Given the description of an element on the screen output the (x, y) to click on. 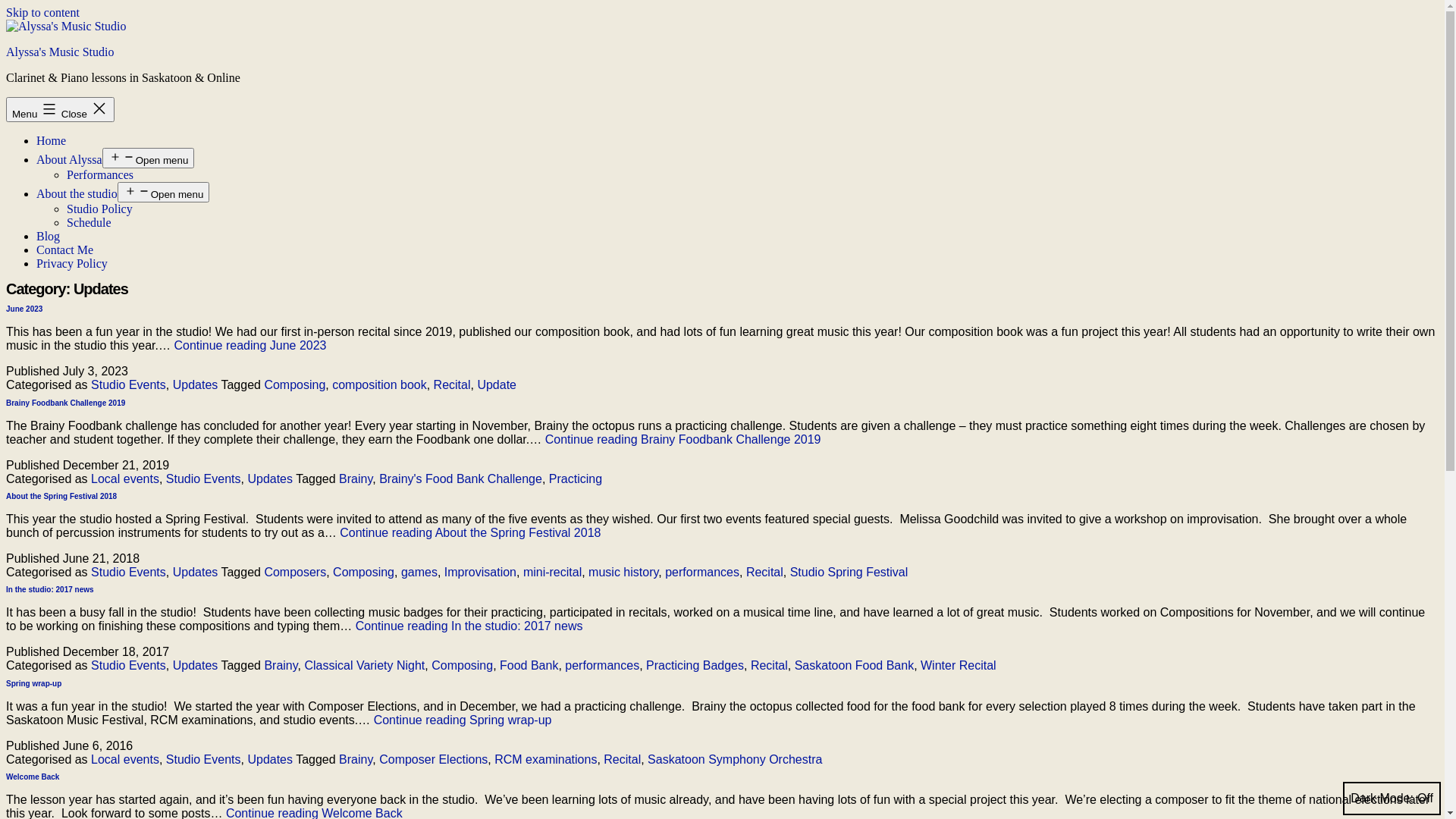
games Element type: text (419, 571)
Update Element type: text (496, 384)
Recital Element type: text (764, 571)
Continue reading Spring wrap-up Element type: text (462, 719)
Updates Element type: text (195, 664)
Studio Policy Element type: text (99, 208)
Composing Element type: text (363, 571)
Composing Element type: text (294, 384)
Brainy Element type: text (280, 664)
Practicing Element type: text (575, 478)
Recital Element type: text (621, 759)
In the studio: 2017 news Element type: text (50, 589)
Winter Recital Element type: text (958, 664)
Local events Element type: text (125, 478)
Brainy Element type: text (355, 478)
Composer Elections Element type: text (433, 759)
Open menu Element type: text (163, 192)
Contact Me Element type: text (64, 249)
Privacy Policy Element type: text (71, 263)
Menu Close Element type: text (60, 109)
Saskatoon Symphony Orchestra Element type: text (734, 759)
Continue reading June 2023 Element type: text (249, 344)
Brainy's Food Bank Challenge Element type: text (460, 478)
Classical Variety Night Element type: text (364, 664)
performances Element type: text (601, 664)
Updates Element type: text (195, 571)
About Alyssa Element type: text (69, 159)
Blog Element type: text (47, 235)
Brainy Foodbank Challenge 2019 Element type: text (65, 402)
Composing Element type: text (461, 664)
Dark Mode: Element type: text (1391, 798)
Recital Element type: text (451, 384)
Composers Element type: text (294, 571)
Studio Events Element type: text (128, 664)
Local events Element type: text (125, 759)
About the studio Element type: text (76, 193)
Continue reading In the studio: 2017 news Element type: text (469, 625)
Spring wrap-up Element type: text (33, 683)
Improvisation Element type: text (480, 571)
Practicing Badges Element type: text (694, 664)
Open menu Element type: text (148, 157)
Saskatoon Food Bank Element type: text (853, 664)
Brainy Element type: text (355, 759)
Performances Element type: text (99, 174)
June 2023 Element type: text (24, 308)
Food Bank Element type: text (528, 664)
Studio Events Element type: text (203, 759)
performances Element type: text (702, 571)
Continue reading Brainy Foodbank Challenge 2019 Element type: text (683, 439)
Schedule Element type: text (88, 222)
mini-recital Element type: text (552, 571)
Updates Element type: text (195, 384)
Skip to content Element type: text (42, 12)
Updates Element type: text (269, 759)
Studio Events Element type: text (128, 571)
About the Spring Festival 2018 Element type: text (61, 496)
Recital Element type: text (768, 664)
Studio Spring Festival Element type: text (849, 571)
Home Element type: text (50, 140)
Welcome Back Element type: text (32, 776)
Studio Events Element type: text (203, 478)
RCM examinations Element type: text (545, 759)
music history Element type: text (623, 571)
Updates Element type: text (269, 478)
Alyssa's Music Studio Element type: text (59, 51)
Continue reading About the Spring Festival 2018 Element type: text (469, 532)
Studio Events Element type: text (128, 384)
composition book Element type: text (379, 384)
